Given the description of an element on the screen output the (x, y) to click on. 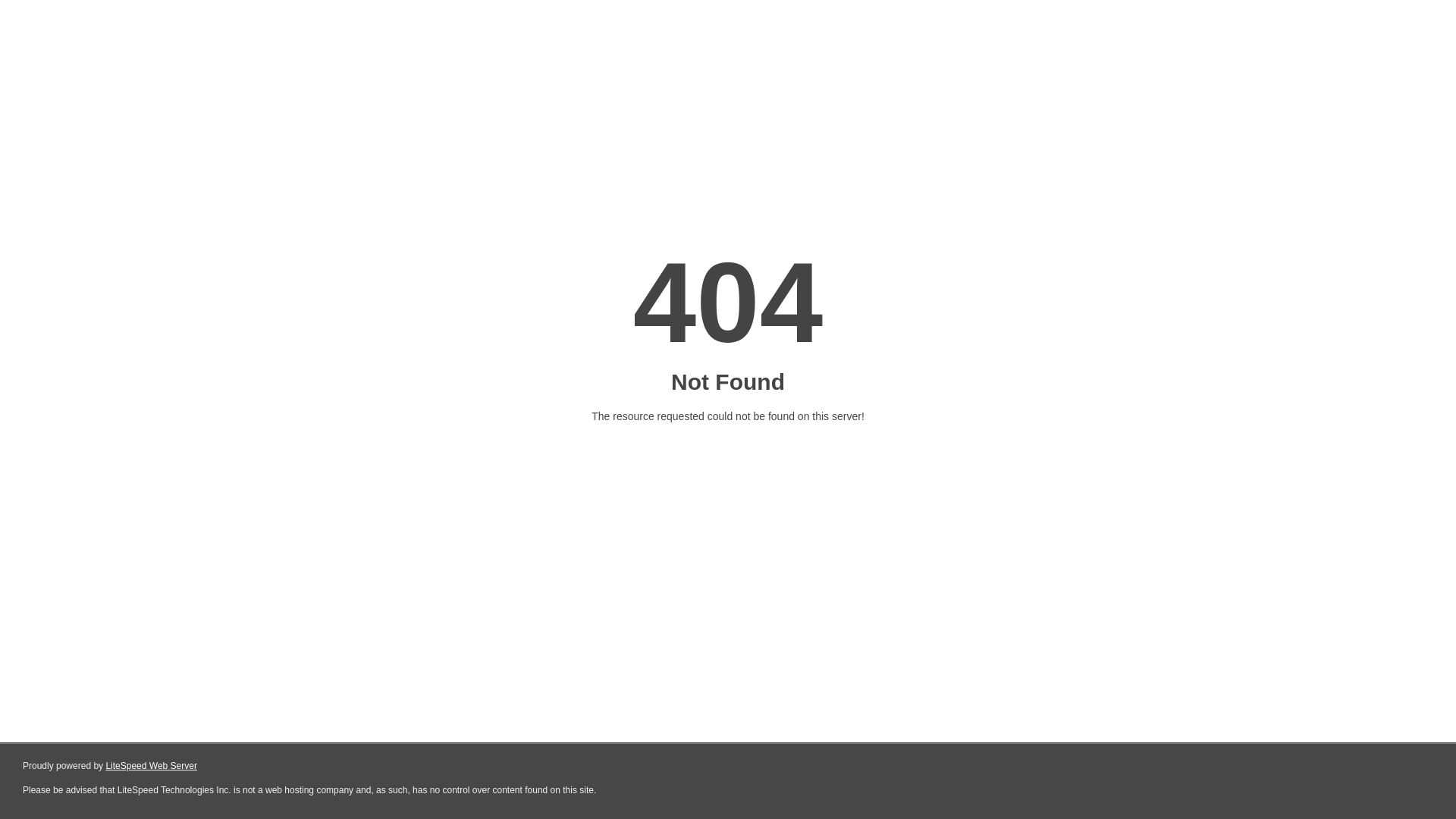
LiteSpeed Web Server Element type: text (151, 765)
